Given the description of an element on the screen output the (x, y) to click on. 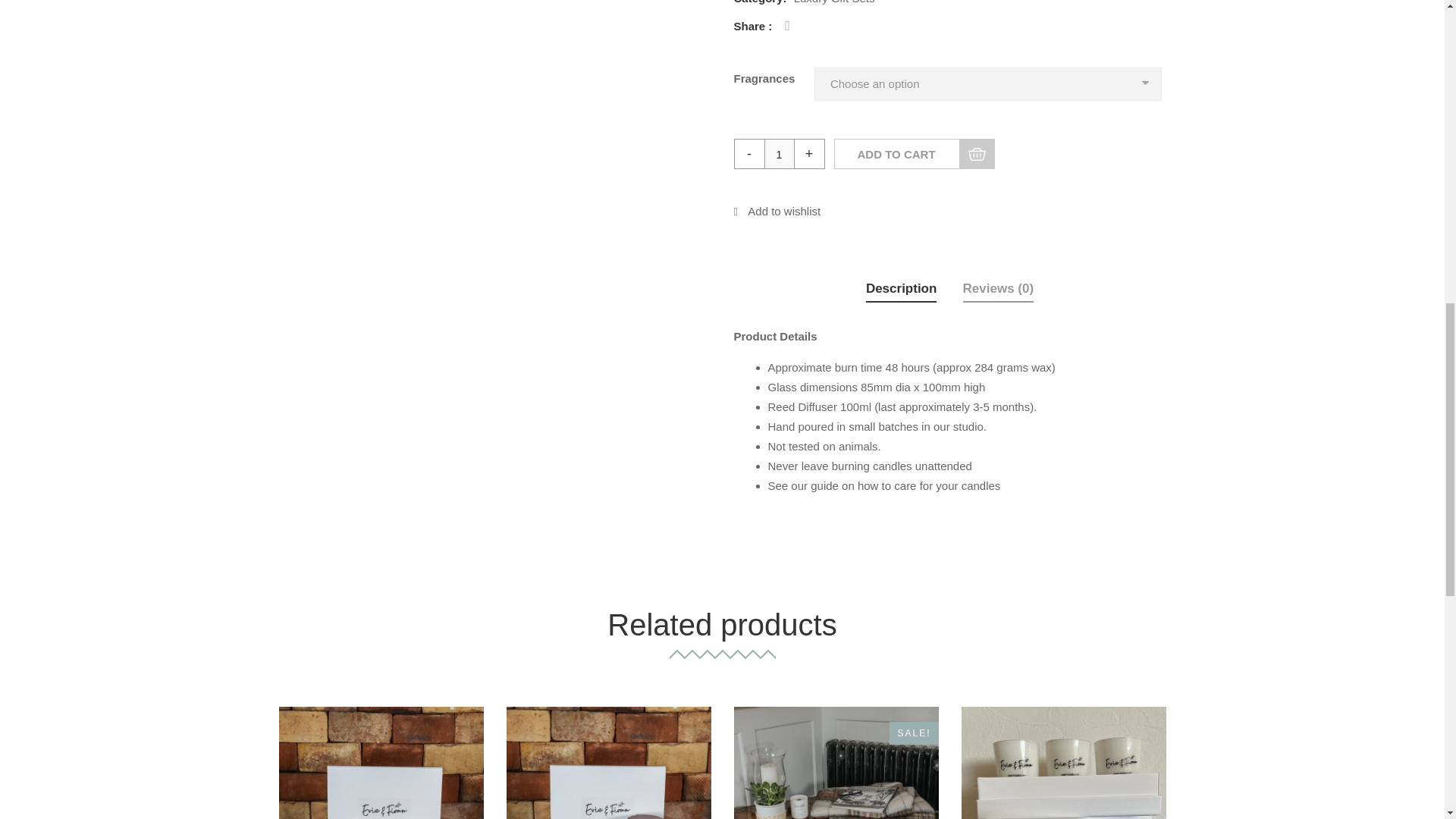
Add to wishlist (777, 210)
Qty (779, 153)
Share on Facebook (786, 25)
- (748, 153)
Luxury Candle Gift Set (608, 762)
Description (901, 289)
ADD TO CART (914, 153)
Handcrafted Luxury Cape Mohair Blankets (836, 762)
Luxury Flameless Gift Set (381, 762)
Luxury Gift Sets (832, 2)
1 (779, 153)
